Given the description of an element on the screen output the (x, y) to click on. 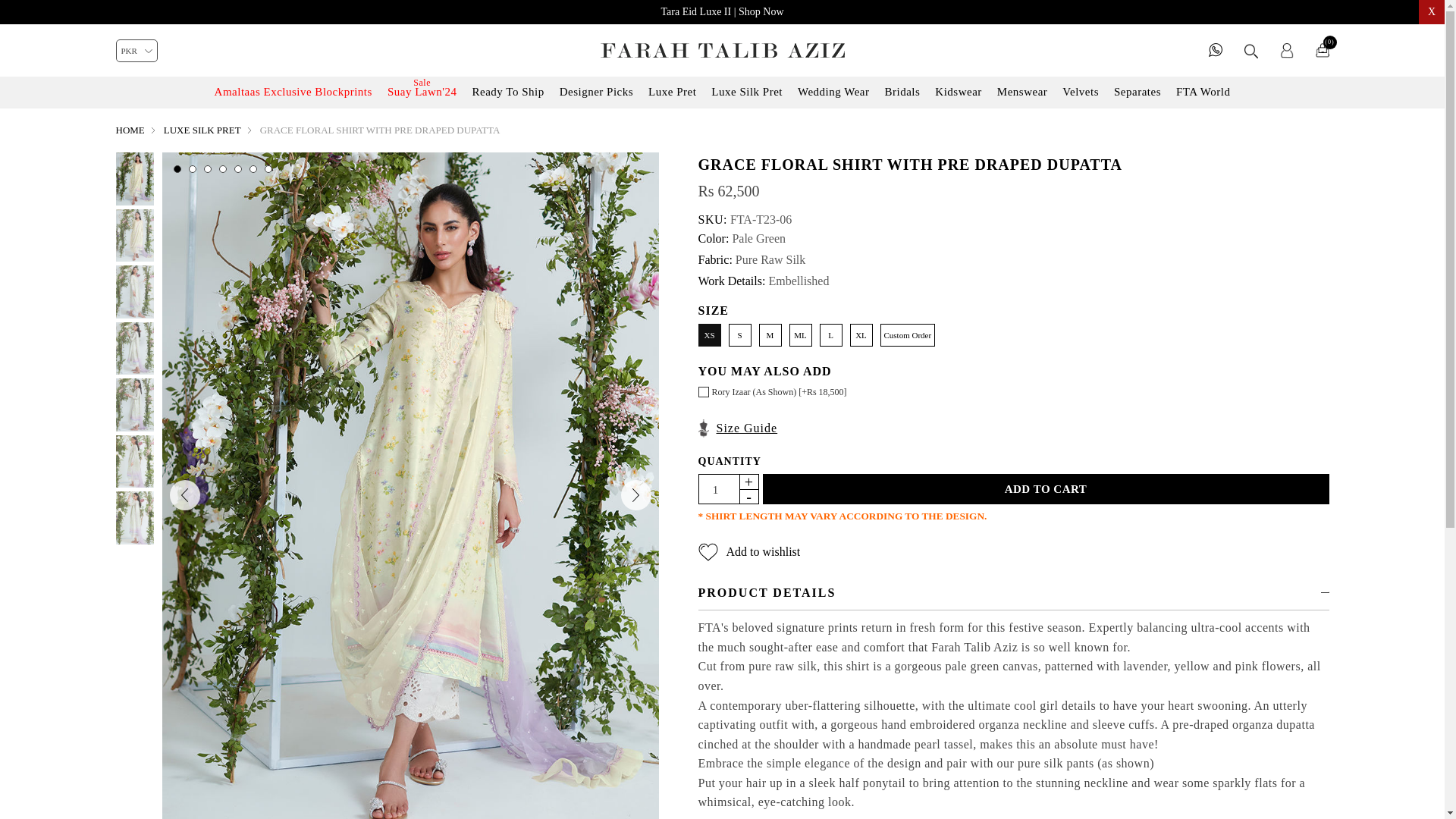
Ready To Ship (507, 91)
1 (715, 490)
Luxe Silk Pret (746, 91)
Separates (1137, 91)
Farah Talib Aziz (721, 50)
Wedding Wear (833, 91)
Kidswear (957, 91)
Designer Picks (595, 91)
Menswear (1022, 91)
Suay Lawn'24 (422, 91)
Bridals (902, 91)
Velvets (1080, 91)
FTA World (1203, 91)
Add to wishlist (748, 552)
Luxe Pret (671, 91)
